Given the description of an element on the screen output the (x, y) to click on. 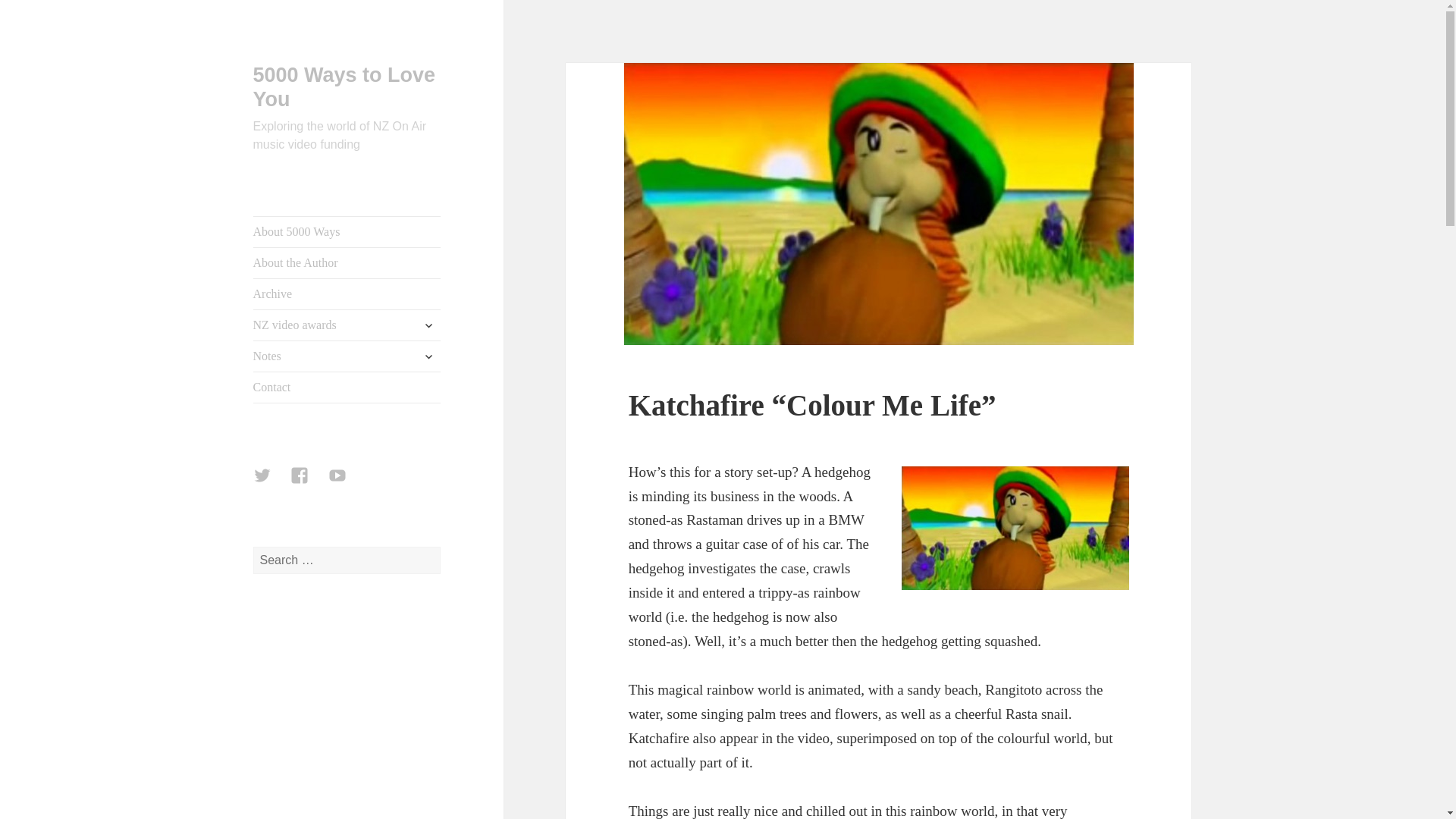
About the Author (347, 263)
NZ video awards (347, 325)
Twitter (271, 484)
Notes (347, 356)
expand child menu (428, 324)
Archive (347, 294)
YouTube (347, 484)
Facebook (307, 484)
About 5000 Ways (347, 232)
Contact (347, 387)
expand child menu (428, 355)
5000 Ways to Love You (344, 86)
